Given the description of an element on the screen output the (x, y) to click on. 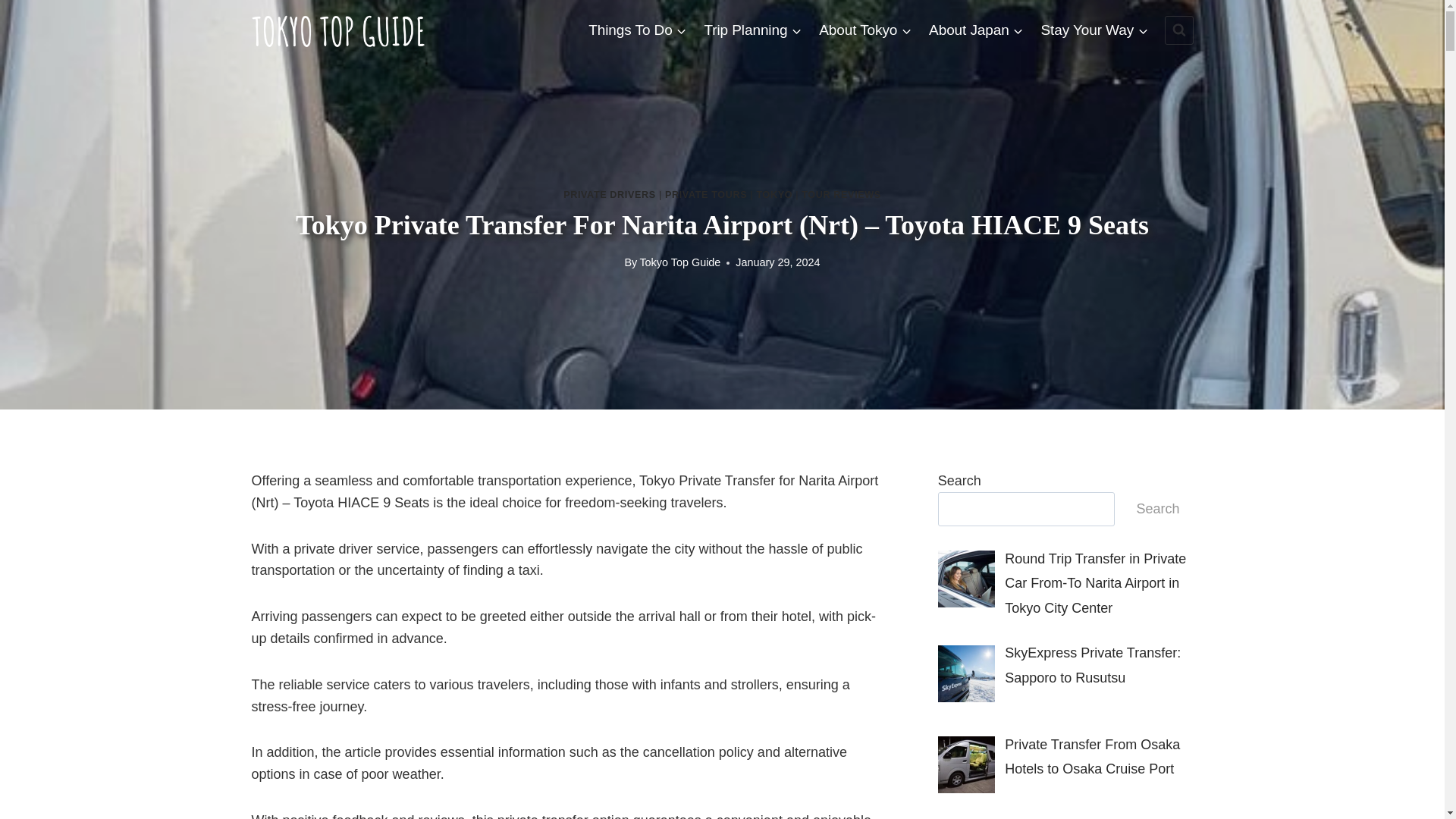
TOUR REVIEWS (841, 194)
PRIVATE DRIVERS (609, 194)
Stay Your Way (1094, 29)
About Japan (976, 29)
PRIVATE TOURS (705, 194)
TOKYO (773, 194)
Trip Planning (752, 29)
About Tokyo (865, 29)
Things To Do (637, 29)
